Given the description of an element on the screen output the (x, y) to click on. 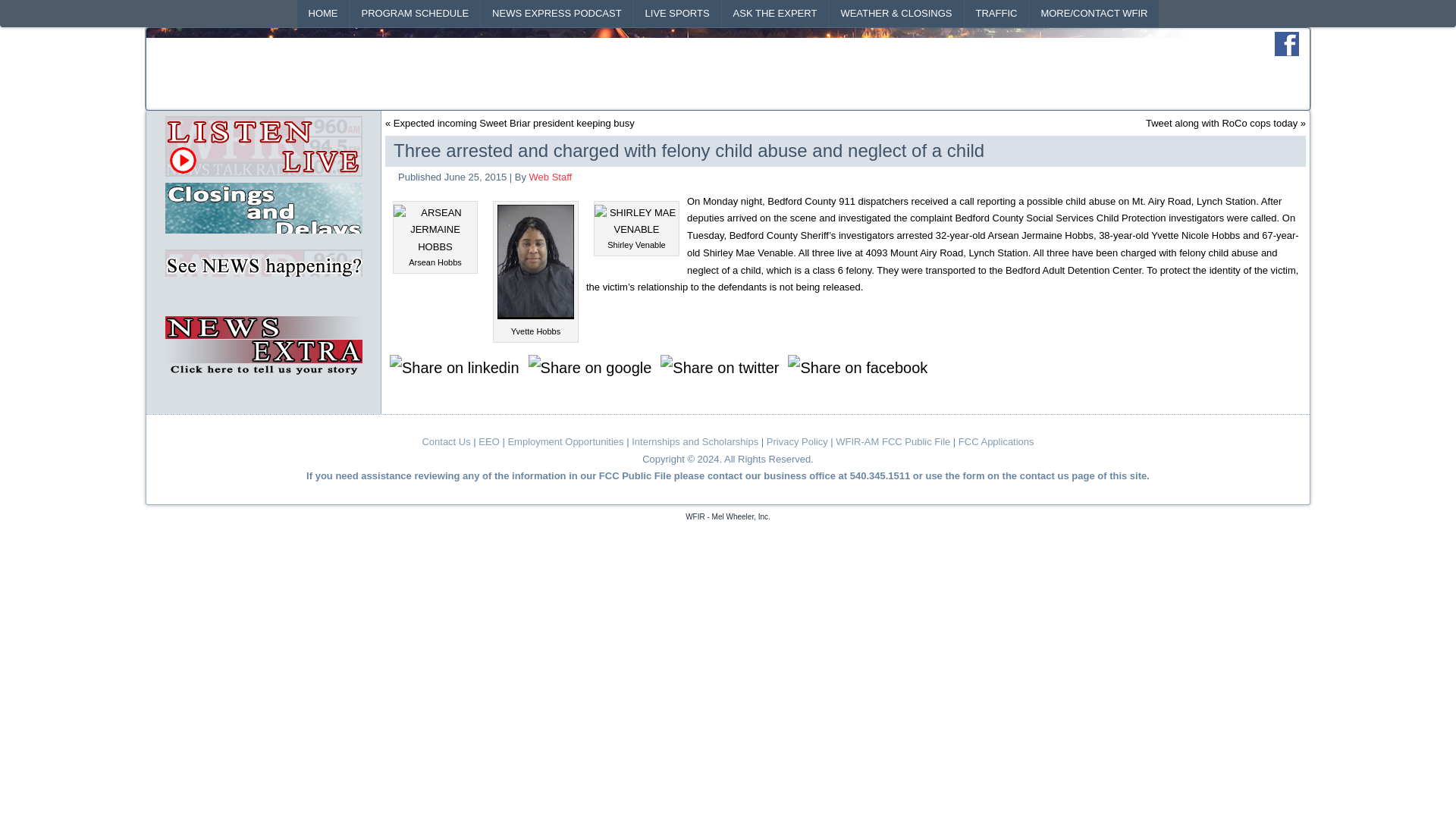
Home (323, 13)
Tweet along with RoCo cops today (1221, 122)
ASK THE EXPERT (775, 13)
TRAFFIC (996, 13)
Live Sports (676, 13)
Expected incoming Sweet Briar president keeping busy (513, 122)
NEWS EXPRESS PODCAST (555, 13)
PROGRAM SCHEDULE (415, 13)
News Express Podcast (555, 13)
Program Schedule (415, 13)
Ask The Expert (775, 13)
Web Staff (550, 176)
Traffic (996, 13)
LIVE SPORTS (676, 13)
HOME (323, 13)
